Given the description of an element on the screen output the (x, y) to click on. 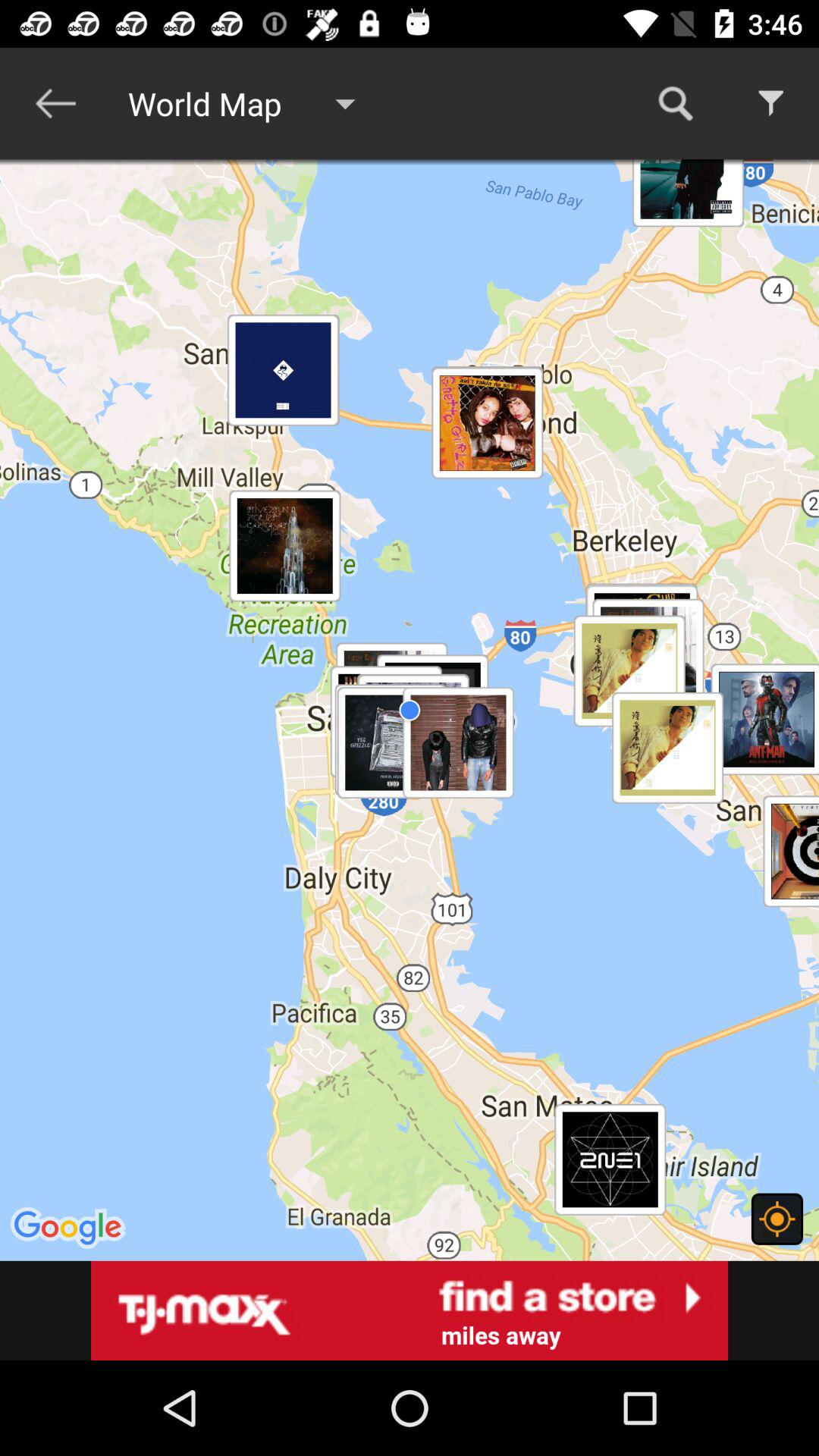
open item to the right of world map icon (675, 103)
